Given the description of an element on the screen output the (x, y) to click on. 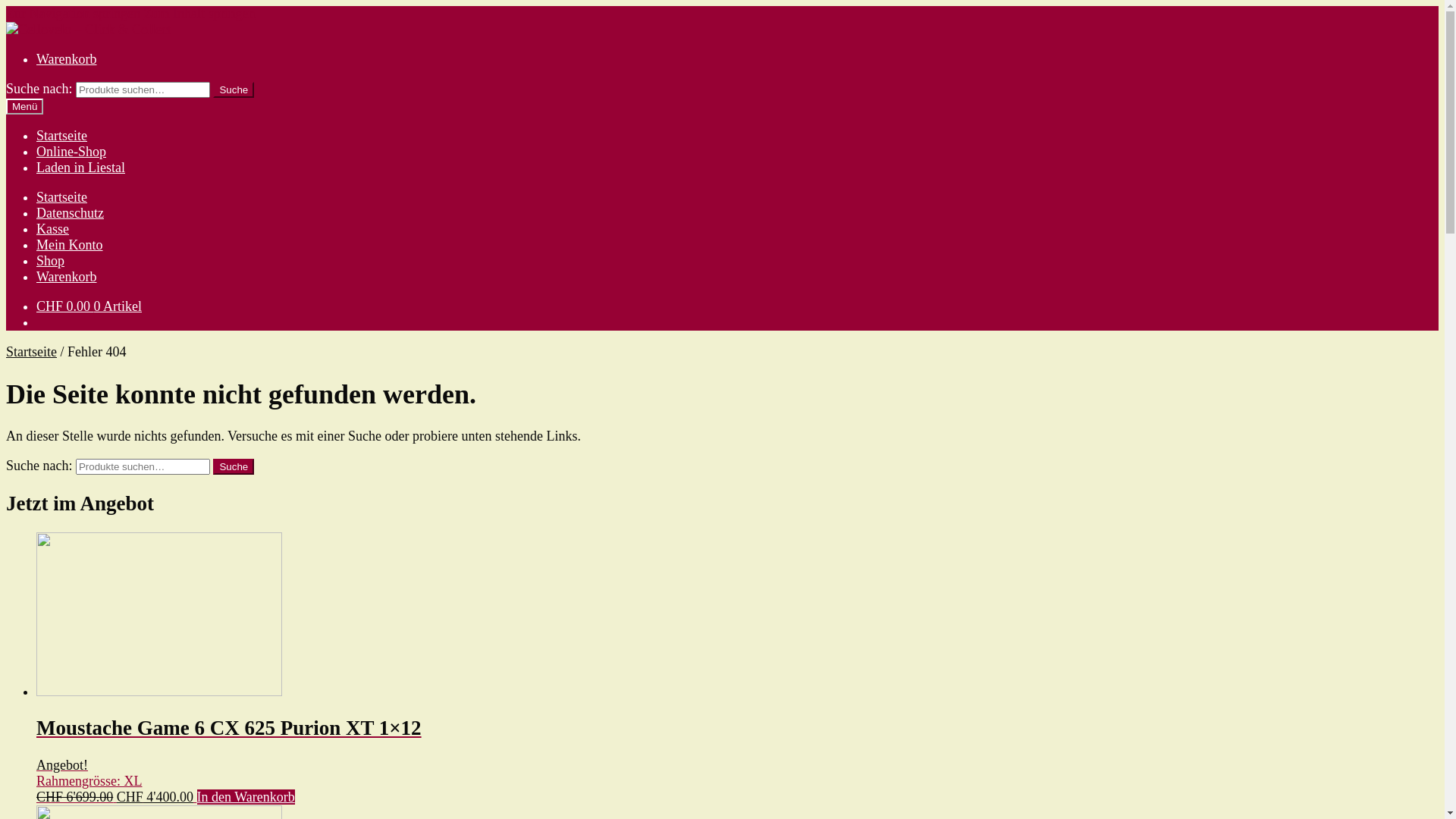
Warenkorb Element type: text (66, 58)
Warenkorb Element type: text (66, 276)
Startseite Element type: text (31, 351)
Shop Element type: text (50, 260)
Zum Inhalt springen Element type: text (198, 13)
Startseite Element type: text (61, 135)
Laden in Liestal Element type: text (80, 167)
Suche Element type: text (233, 466)
Zur Navigation springen Element type: text (73, 13)
Datenschutz Element type: text (69, 212)
Online-Shop Element type: text (71, 151)
Mein Konto Element type: text (69, 244)
In den Warenkorb Element type: text (245, 796)
Kasse Element type: text (52, 228)
Suche Element type: text (233, 89)
CHF 0.00 0 Artikel Element type: text (88, 305)
Startseite Element type: text (61, 196)
